Given the description of an element on the screen output the (x, y) to click on. 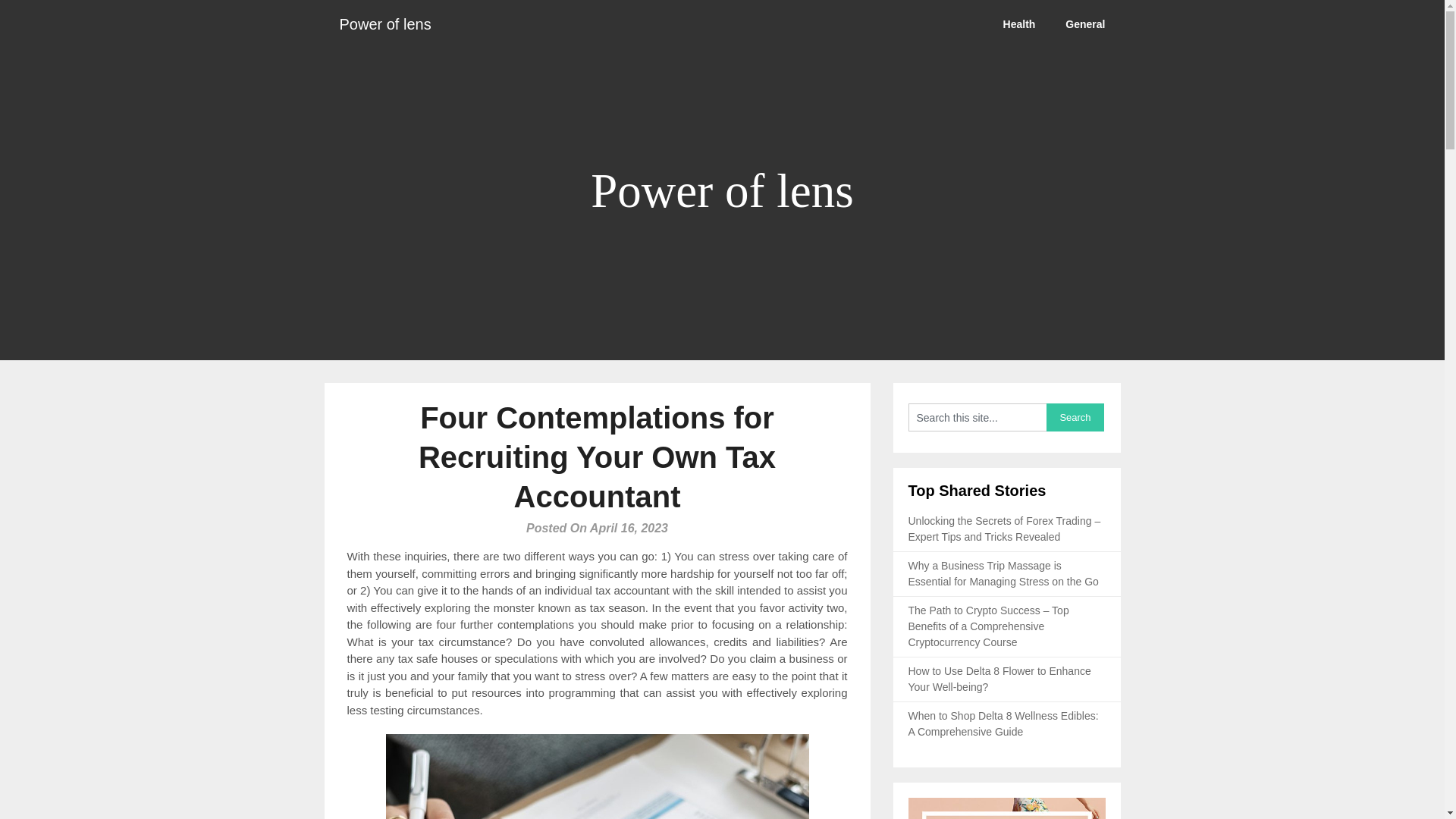
Search (1075, 417)
When to Shop Delta 8 Wellness Edibles: A Comprehensive Guide (1003, 723)
Search this site... (977, 417)
General (1084, 24)
Power of lens (385, 24)
Health (1019, 24)
How to Use Delta 8 Flower to Enhance Your Well-being? (999, 678)
Search (1075, 417)
